Given the description of an element on the screen output the (x, y) to click on. 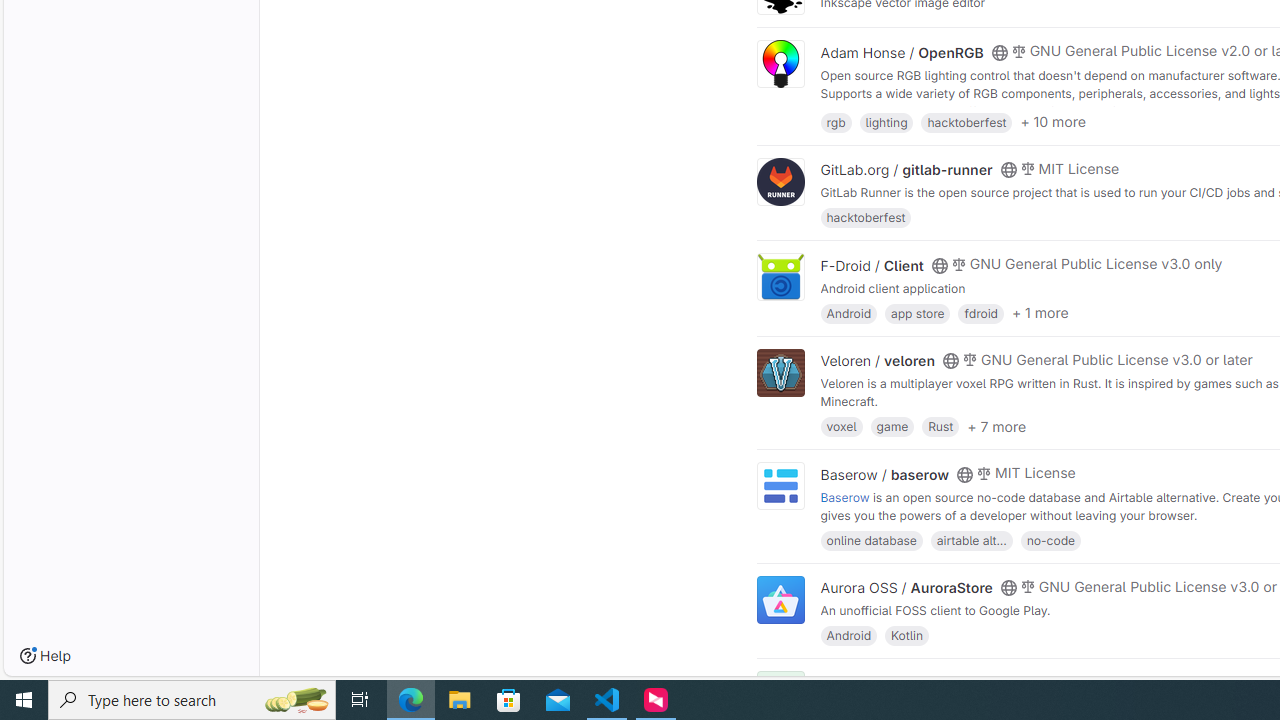
Aurora OSS / AuroraStore (906, 587)
Class: s16 (999, 683)
F (780, 695)
Rust (940, 426)
Edouard Klein / falsisign (902, 682)
app store (917, 312)
Class: project (780, 599)
+ 10 more (1053, 121)
airtable alt... (971, 539)
Baserow (845, 496)
no-code (1050, 539)
fdroid (980, 312)
lighting (886, 120)
Help (45, 655)
Android (848, 634)
